Given the description of an element on the screen output the (x, y) to click on. 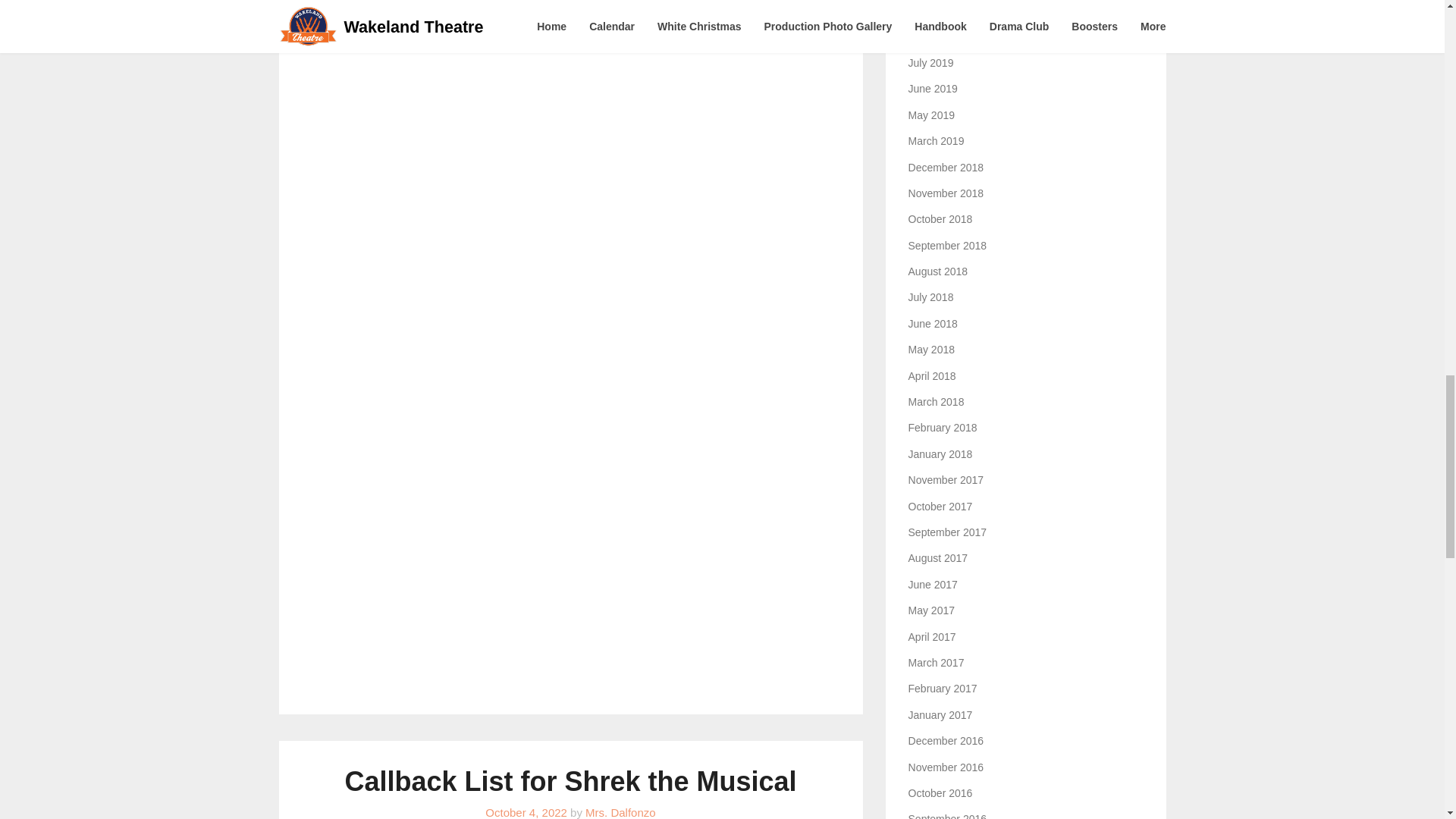
Callback List for Shrek the Musical (569, 780)
